Given the description of an element on the screen output the (x, y) to click on. 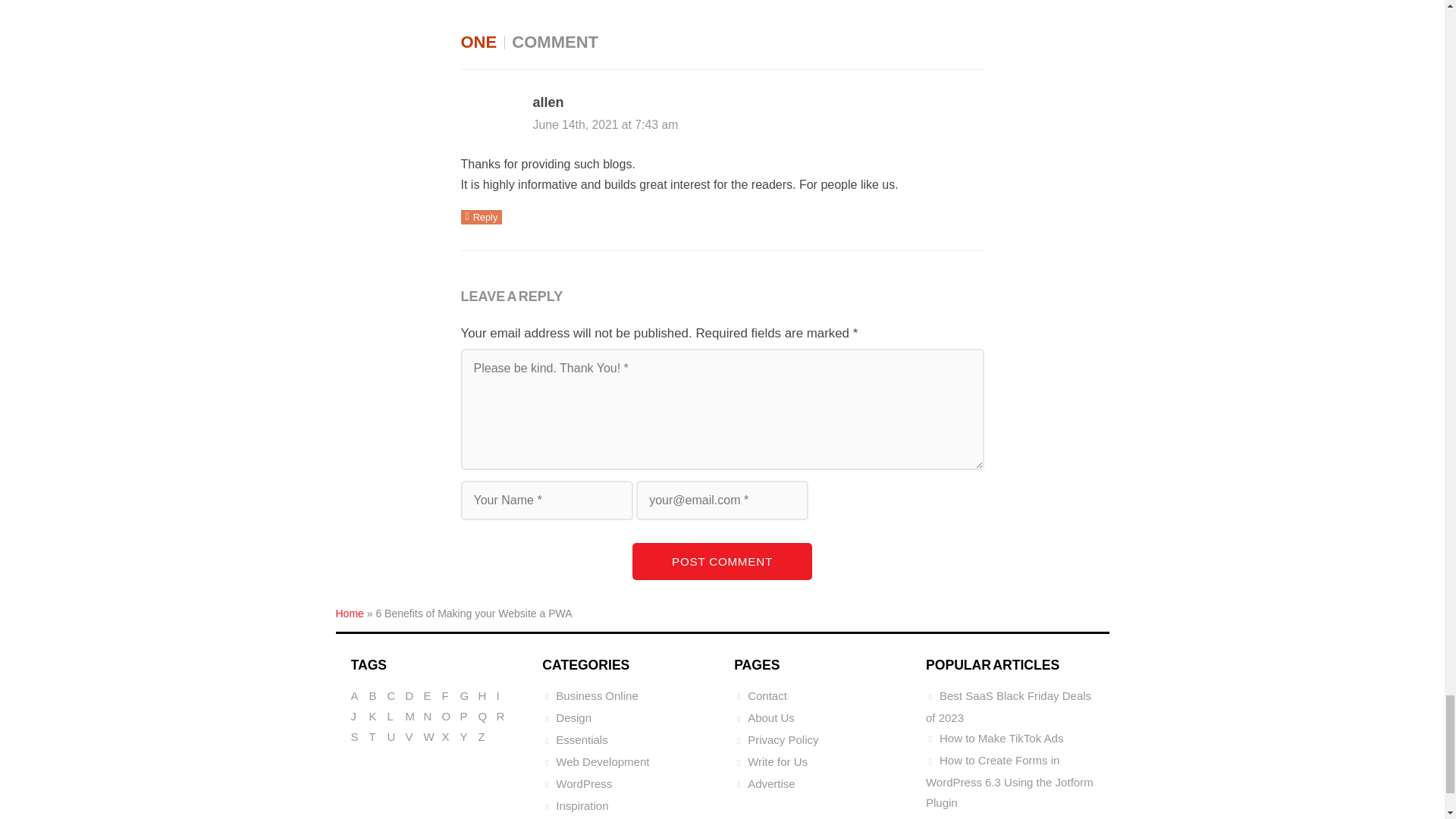
Reply (481, 216)
Home (348, 613)
Post Comment (721, 560)
Post Comment (721, 560)
June 14th, 2021 at 7:43 am (605, 124)
